Given the description of an element on the screen output the (x, y) to click on. 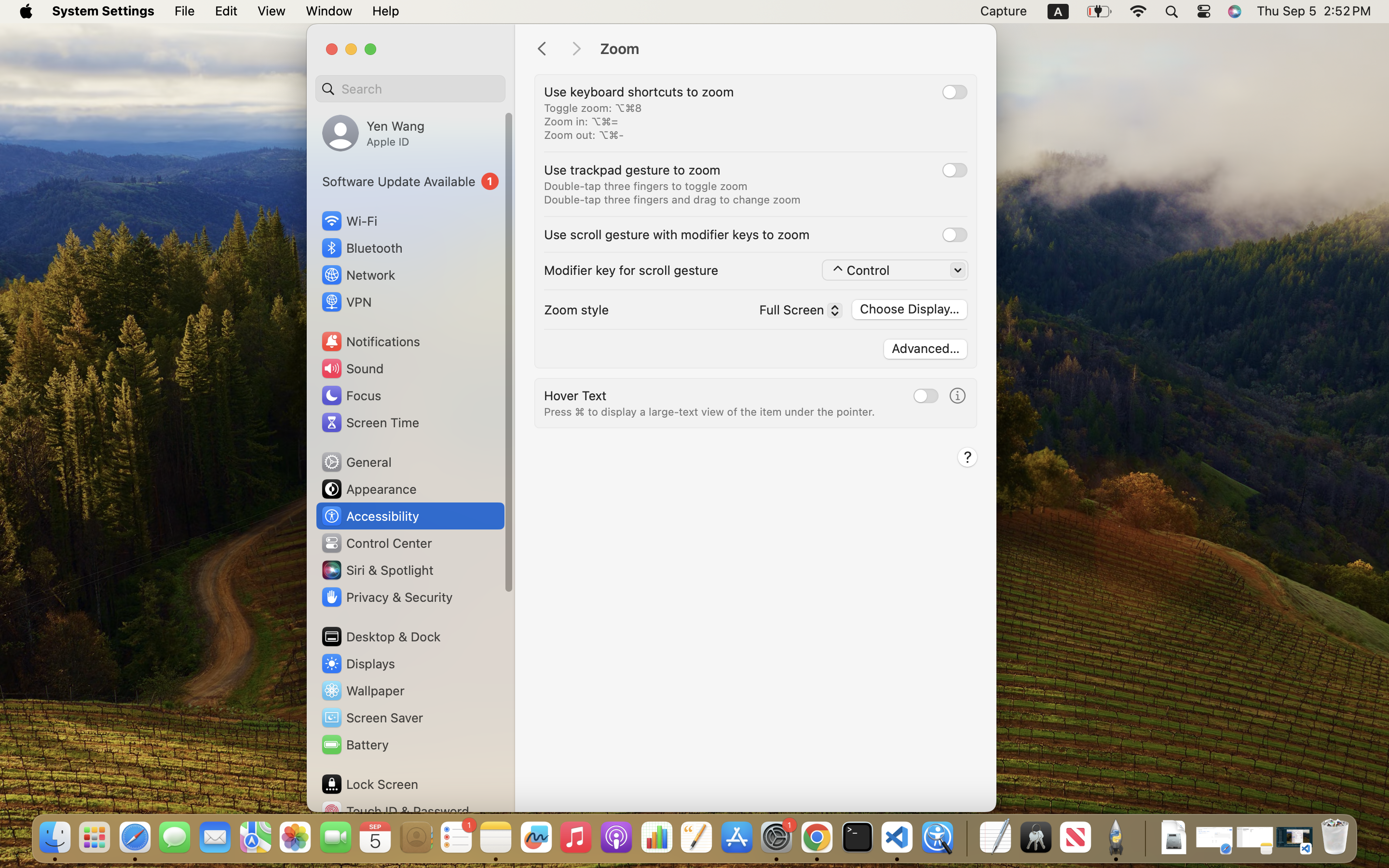
Yen Wang, Apple ID Element type: AXStaticText (373, 132)
Bluetooth Element type: AXStaticText (361, 247)
Double-tap three fingers and drag to change zoom Element type: AXStaticText (672, 199)
Battery Element type: AXStaticText (354, 744)
Touch ID & Password Element type: AXStaticText (394, 810)
